Given the description of an element on the screen output the (x, y) to click on. 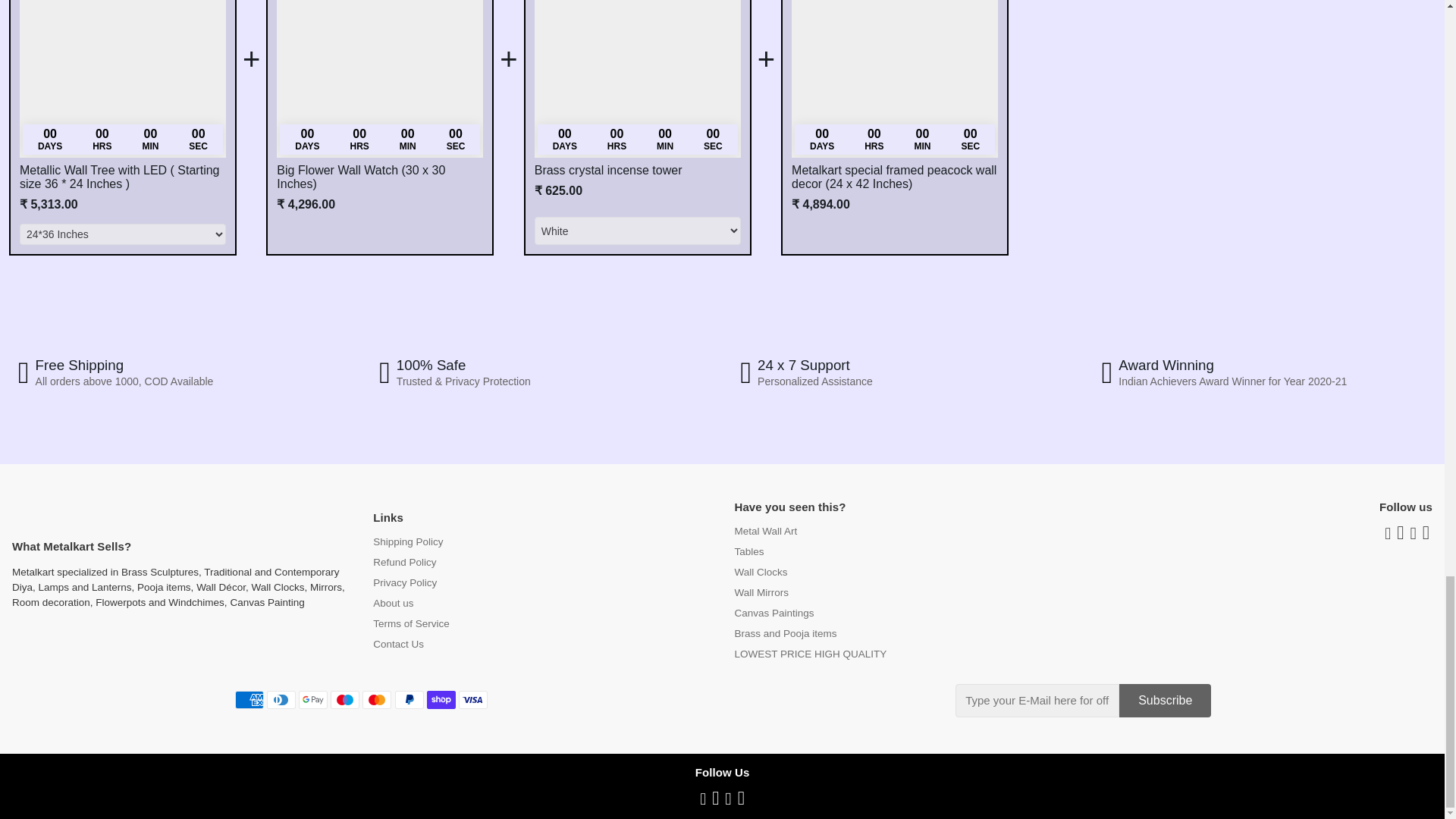
Maestro (344, 700)
American Express (248, 700)
Mastercard (376, 700)
Diners Club (280, 700)
Shop Pay (440, 700)
Visa (472, 700)
Google Pay (312, 700)
PayPal (408, 700)
